Given the description of an element on the screen output the (x, y) to click on. 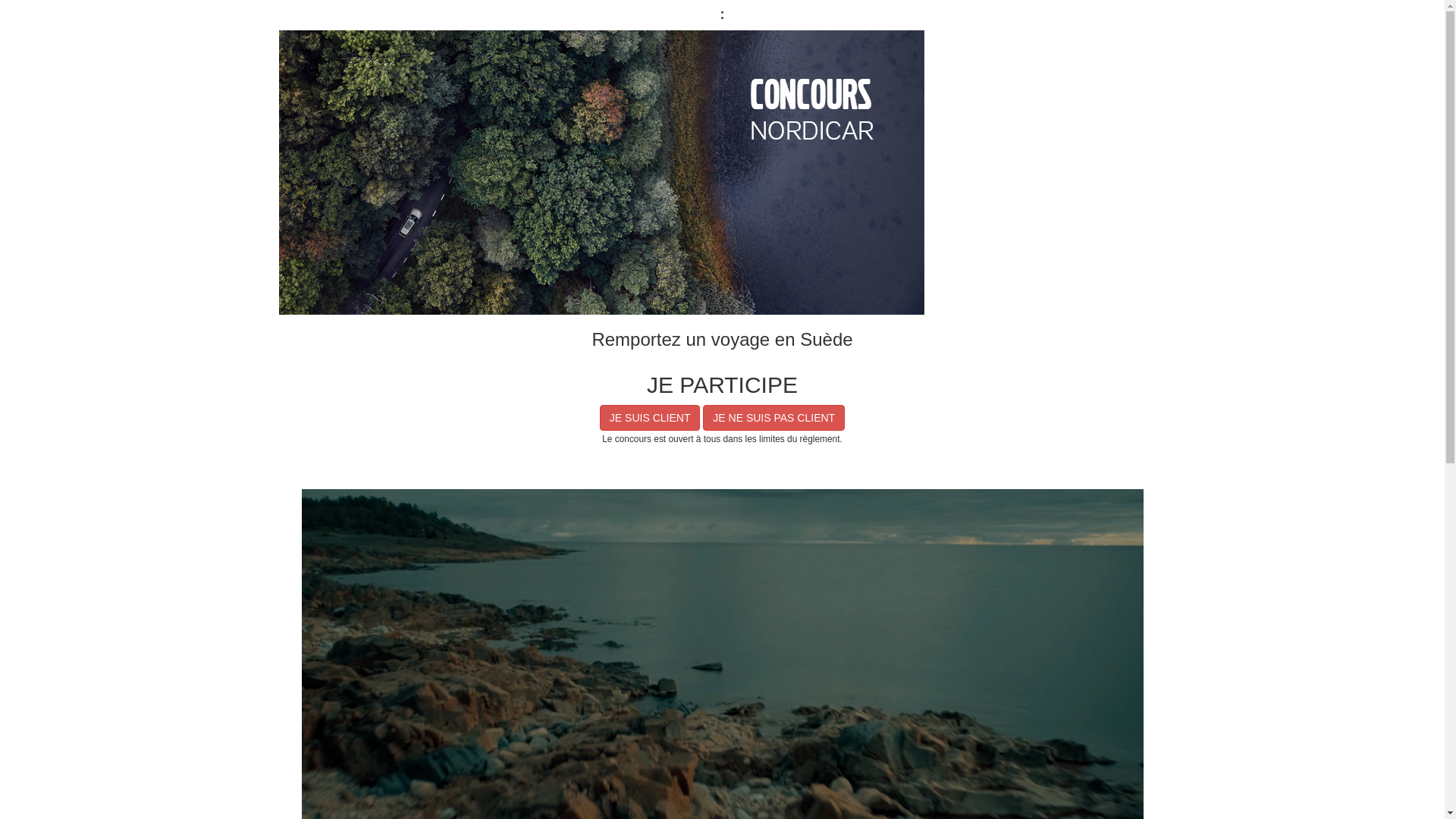
JE SUIS CLIENT Element type: text (649, 417)
JE NE SUIS PAS CLIENT Element type: text (773, 417)
JE NE SUIS PAS CLIENT Element type: text (773, 417)
JE SUIS CLIENT Element type: text (649, 417)
